Given the description of an element on the screen output the (x, y) to click on. 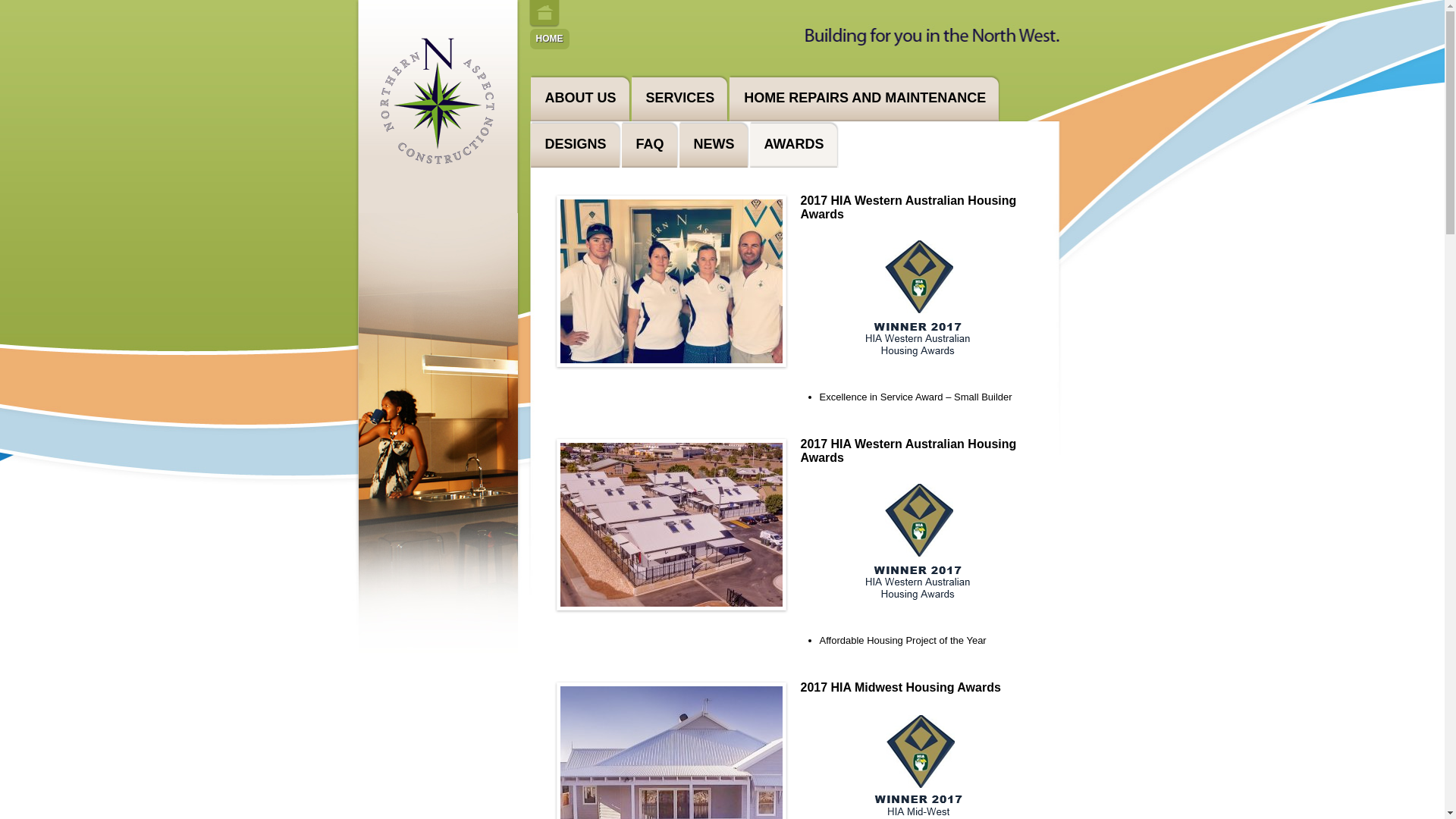
Northern Aspect - Home Element type: hover (437, 173)
Home Element type: text (544, 14)
FAQ
  Element type: text (649, 144)
SERVICES
  Element type: text (678, 98)
ABOUT US
  Element type: text (579, 98)
NEWS
  Element type: text (713, 144)
DESIGNS
  Element type: text (574, 144)
HOME REPAIRS AND MAINTENANCE
  Element type: text (863, 98)
AWARDS
  Element type: text (793, 144)
